Given the description of an element on the screen output the (x, y) to click on. 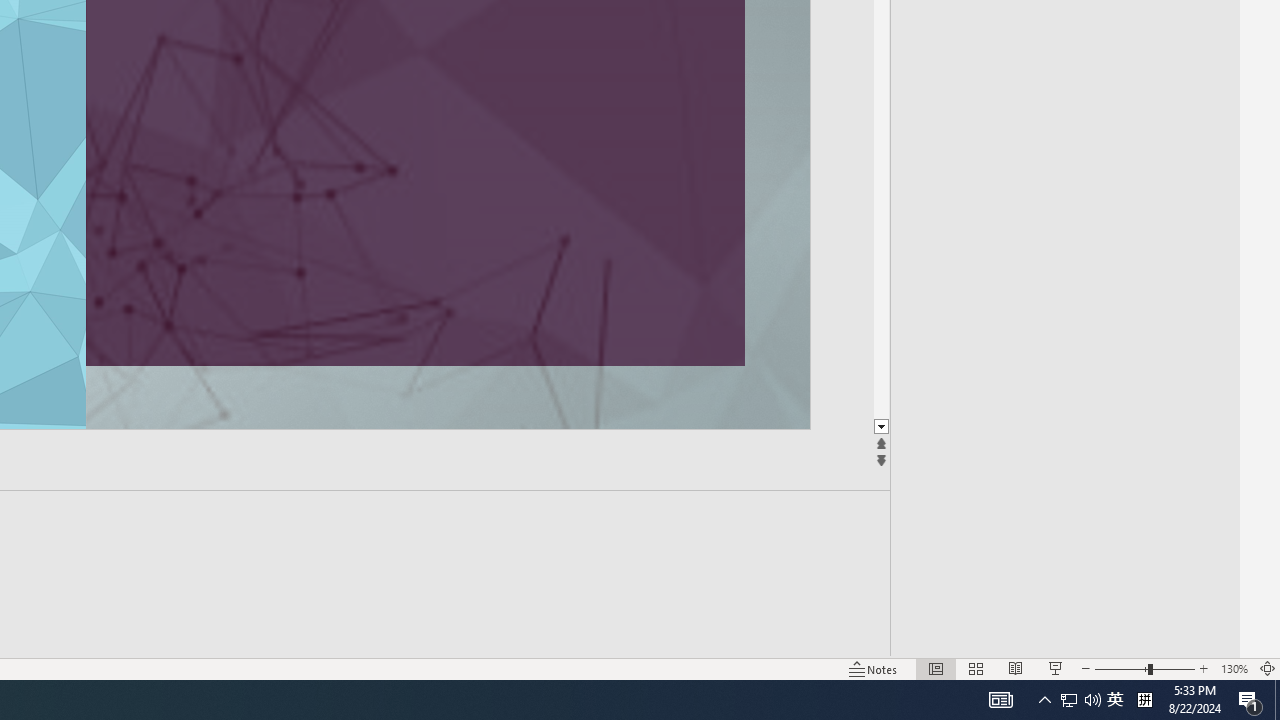
Zoom 130% (1234, 668)
